Given the description of an element on the screen output the (x, y) to click on. 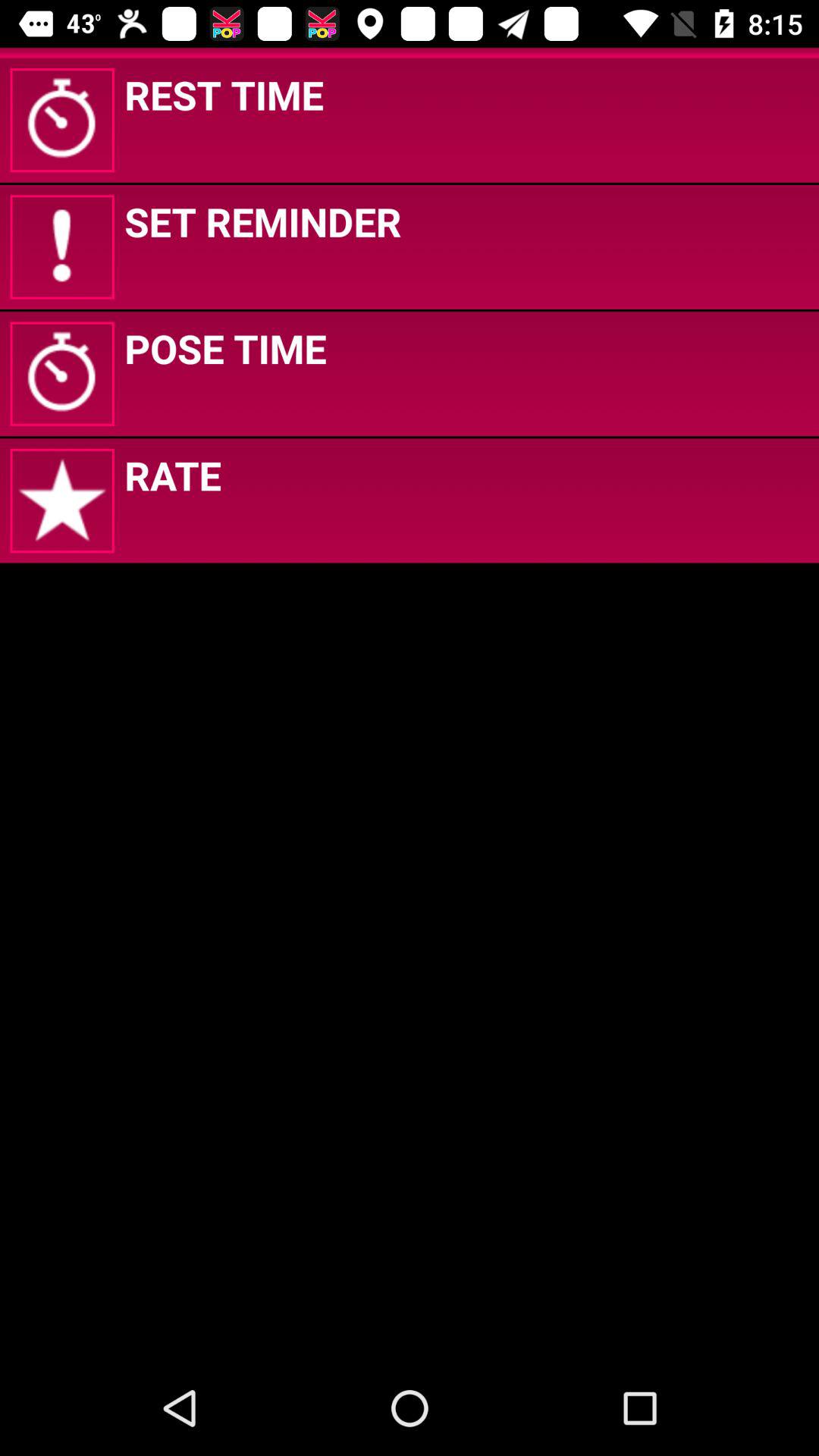
tap set reminder item (262, 221)
